Given the description of an element on the screen output the (x, y) to click on. 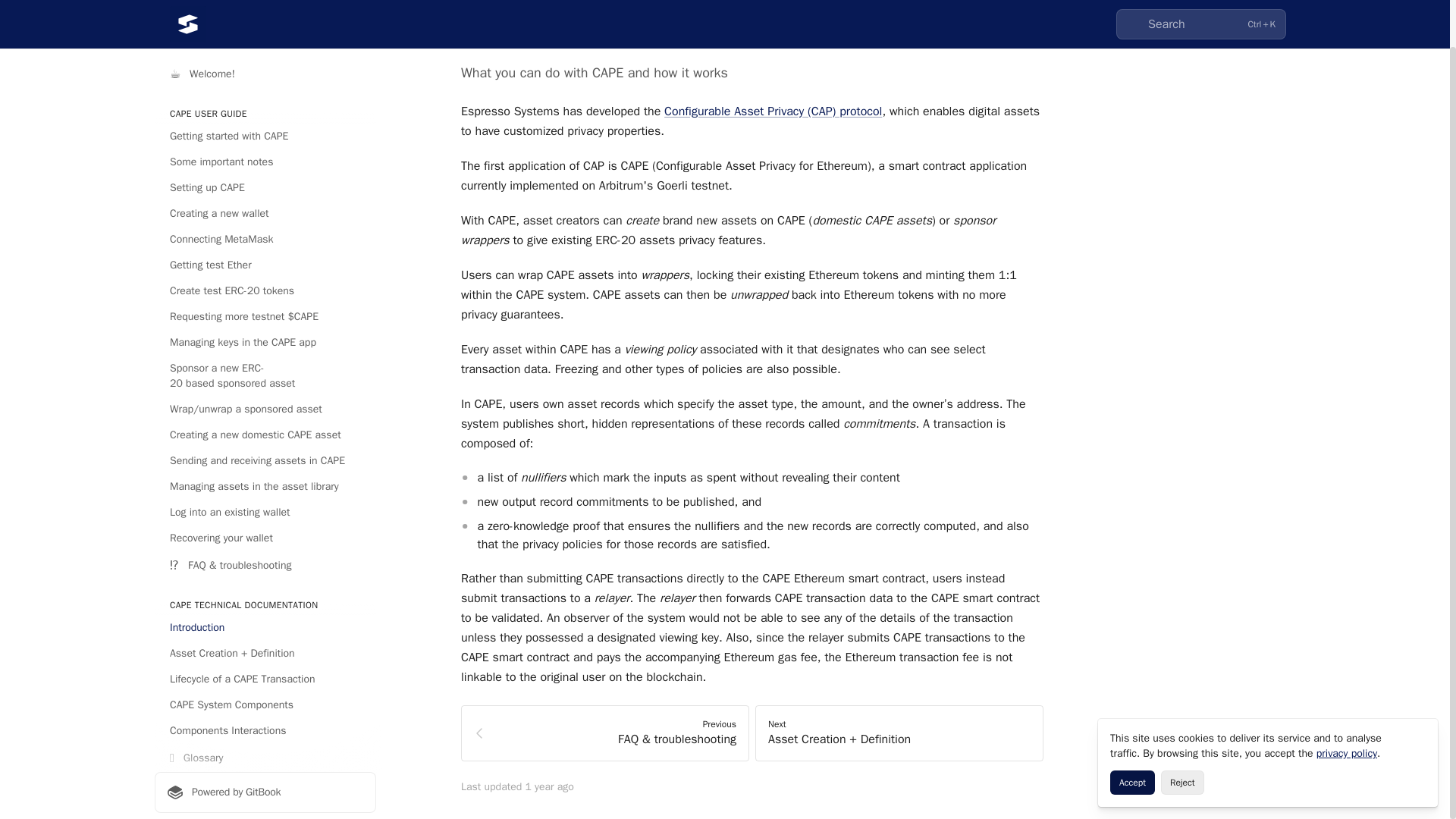
Connecting MetaMask (264, 189)
Close (1419, 687)
Getting test Ether (264, 215)
Components Interactions (264, 680)
Managing assets in the asset library (264, 436)
Log into an existing wallet (264, 462)
Reject (1182, 732)
privacy policy (1346, 703)
Sponsor a new ERC-20 based sponsored asset (264, 325)
CAPE System Components (264, 654)
Creating a new wallet (264, 163)
Introduction (264, 577)
Accept (1131, 732)
Some important notes (264, 111)
Powered by GitBook (264, 741)
